Given the description of an element on the screen output the (x, y) to click on. 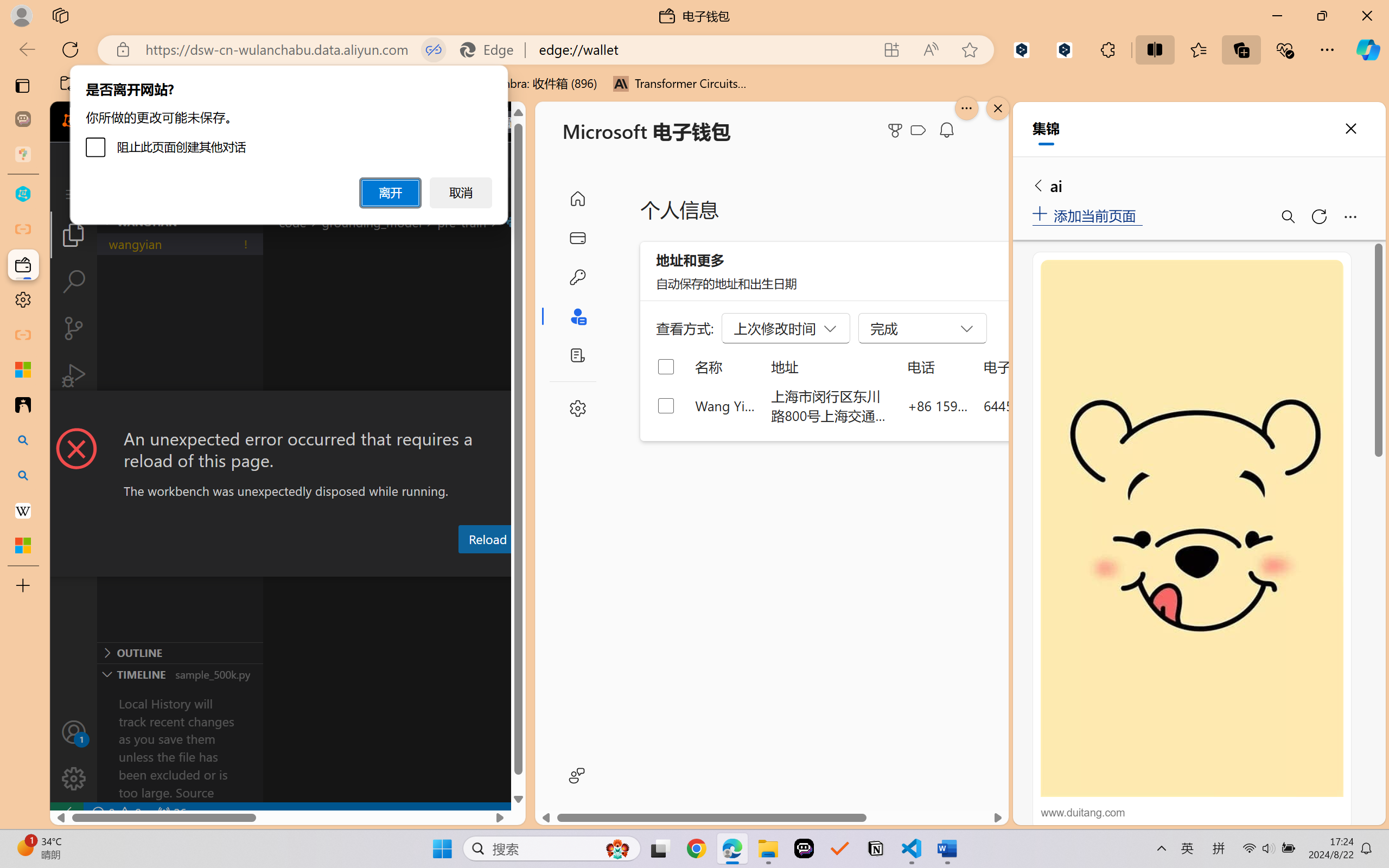
Class: ___1lmltc5 f1agt3bx f12qytpq (917, 130)
Microsoft Rewards (896, 129)
Copilot (Ctrl+Shift+.) (1368, 49)
+86 159 0032 4640 (938, 405)
Debug Console (Ctrl+Shift+Y) (463, 565)
Reload (486, 538)
